Given the description of an element on the screen output the (x, y) to click on. 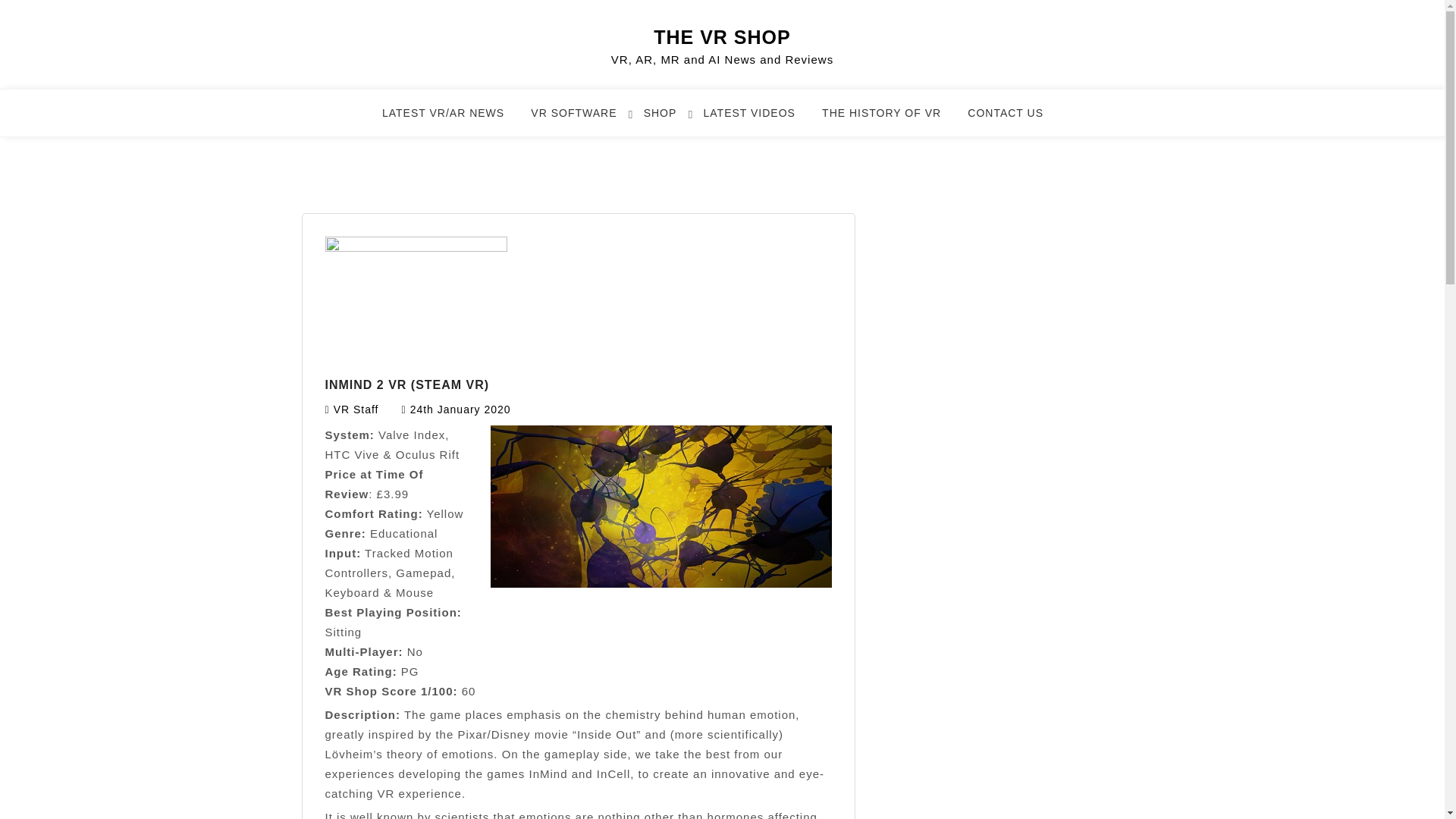
THE VR SHOP (721, 36)
THE HISTORY OF VR (890, 119)
SHOP (669, 119)
24th January 2020 (460, 409)
CONTACT US (1015, 119)
LATEST VIDEOS (758, 119)
VR Staff (355, 409)
VR SOFTWARE (582, 119)
